Given the description of an element on the screen output the (x, y) to click on. 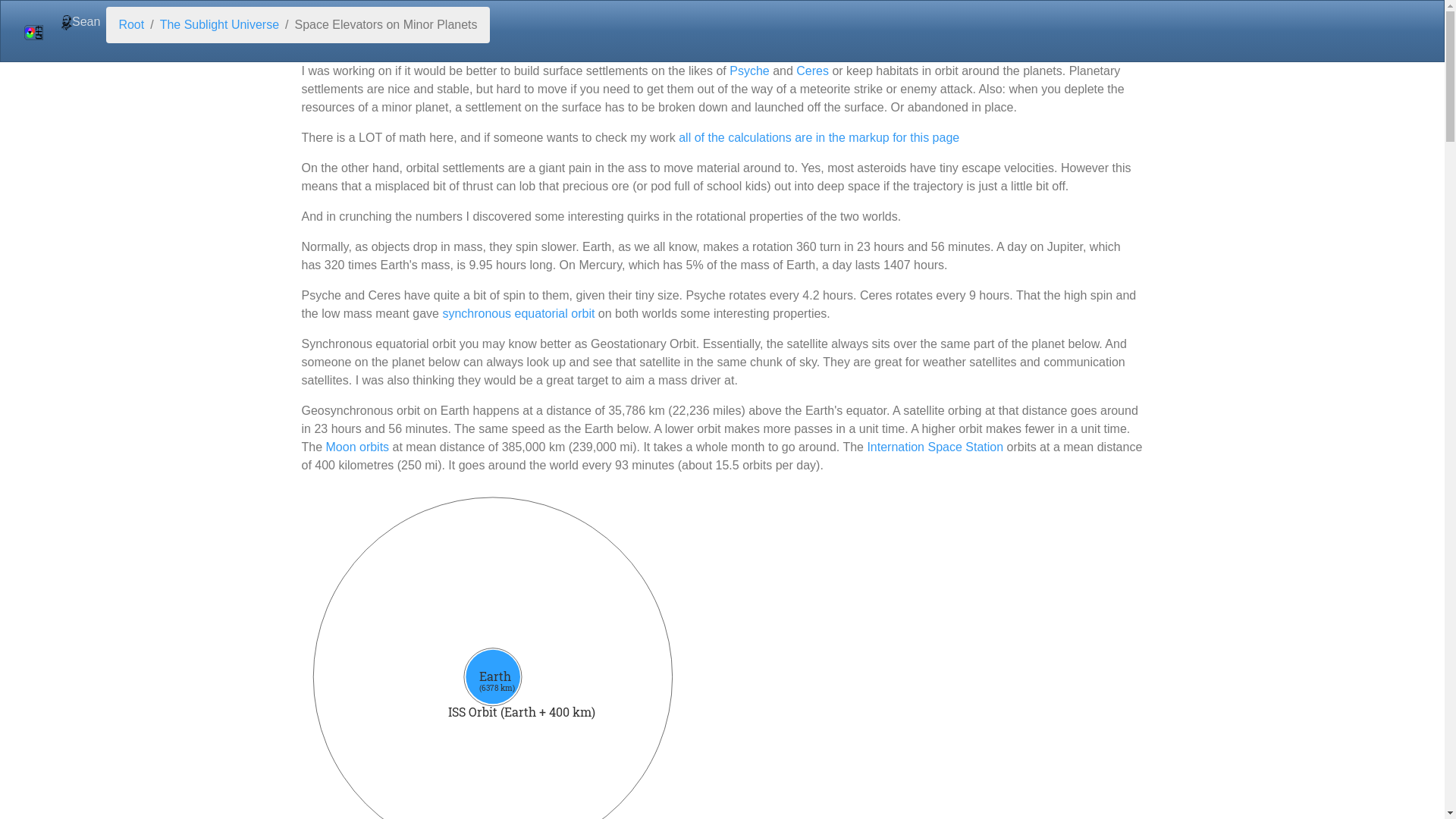
Psyche (748, 70)
Sean (80, 21)
Internation Space Station (934, 446)
The Sublight Universe (219, 24)
Moon orbits (358, 446)
all of the calculations are in the markup for this page (818, 137)
Ceres (812, 70)
synchronous equatorial orbit (518, 313)
Root (130, 24)
